Given the description of an element on the screen output the (x, y) to click on. 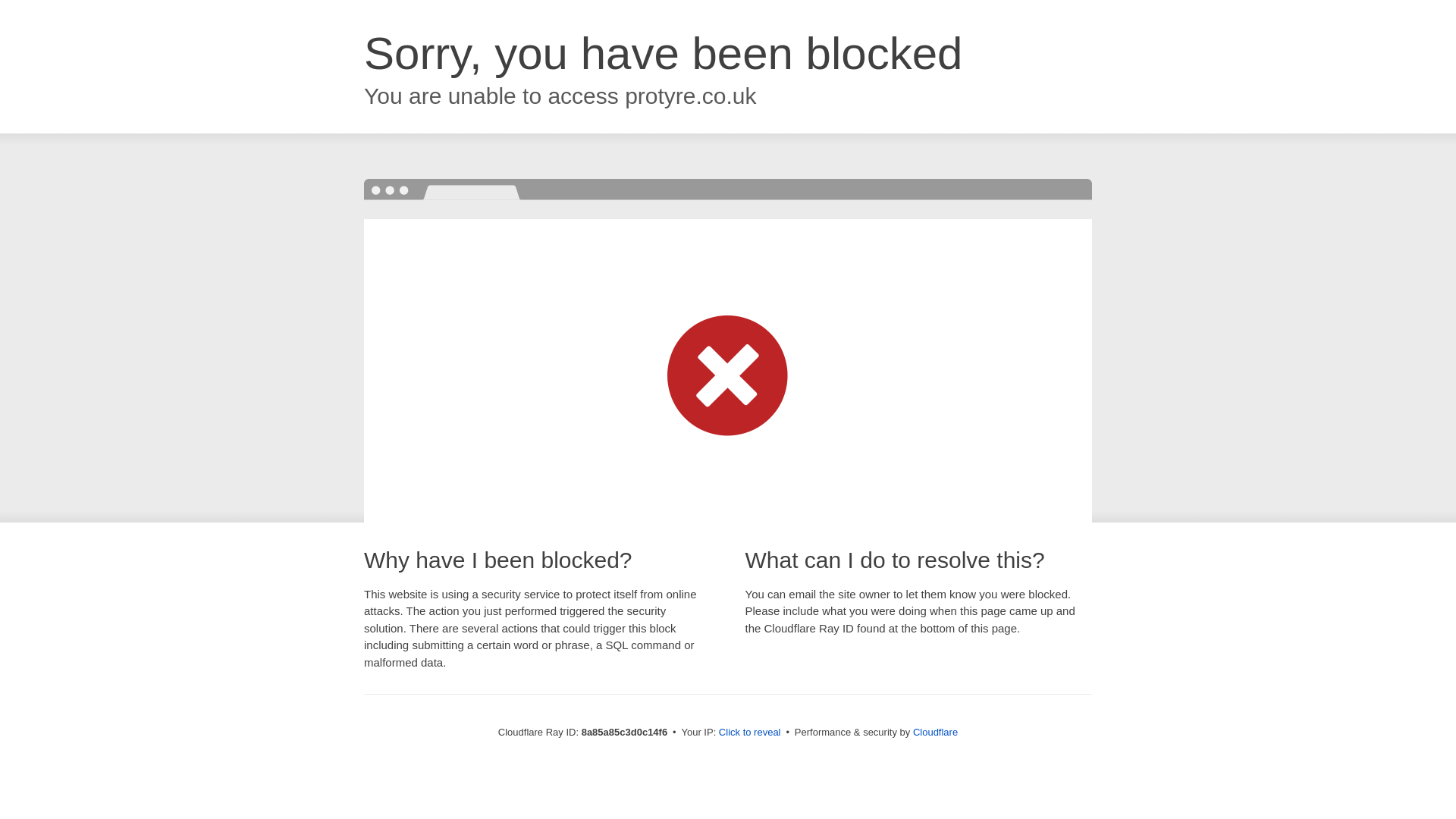
Click to reveal (749, 732)
Cloudflare (935, 731)
